Given the description of an element on the screen output the (x, y) to click on. 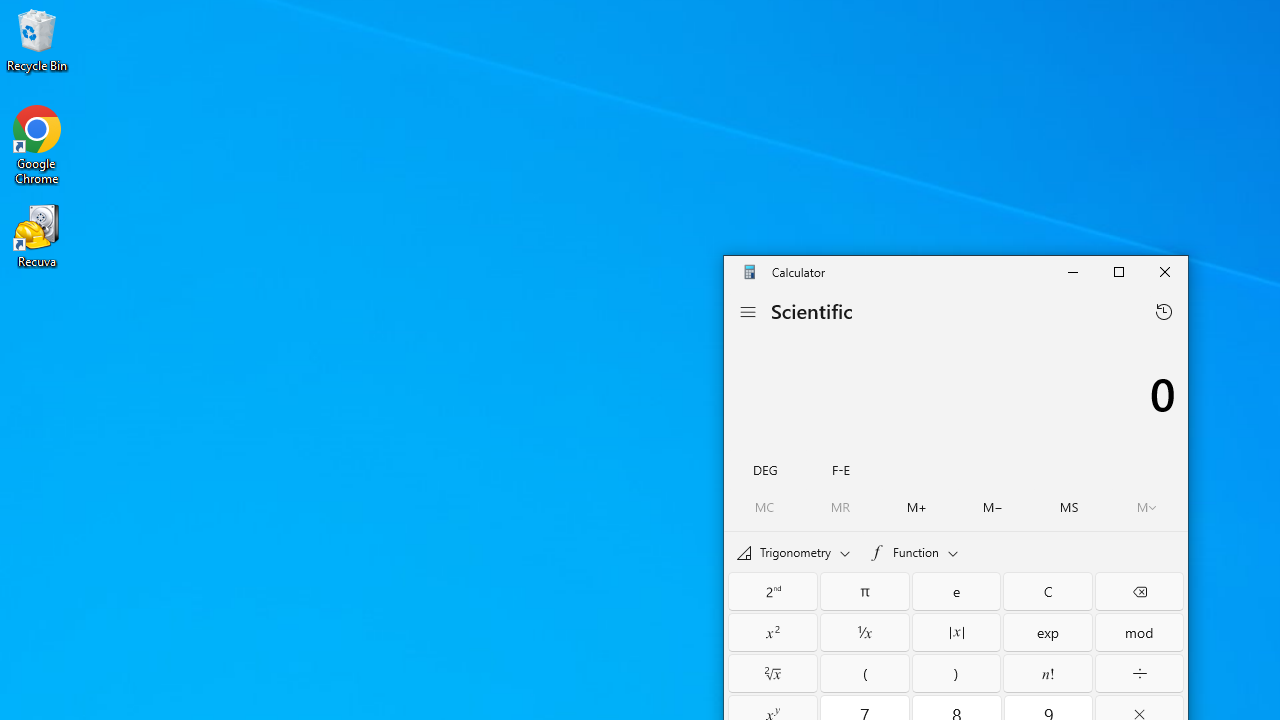
Euler's number (955, 591)
Trigonometry (793, 552)
Memory add (916, 507)
Open history flyout (1164, 311)
Trigonometry (793, 551)
Modulo (1139, 632)
Backspace (1139, 591)
Factorial (1048, 672)
Clear (1048, 591)
Exponential (1048, 632)
Absolute value (955, 632)
Clear all memory (765, 507)
Close Calculator (1164, 272)
Memory subtract (993, 507)
Reciprocal (865, 632)
